Given the description of an element on the screen output the (x, y) to click on. 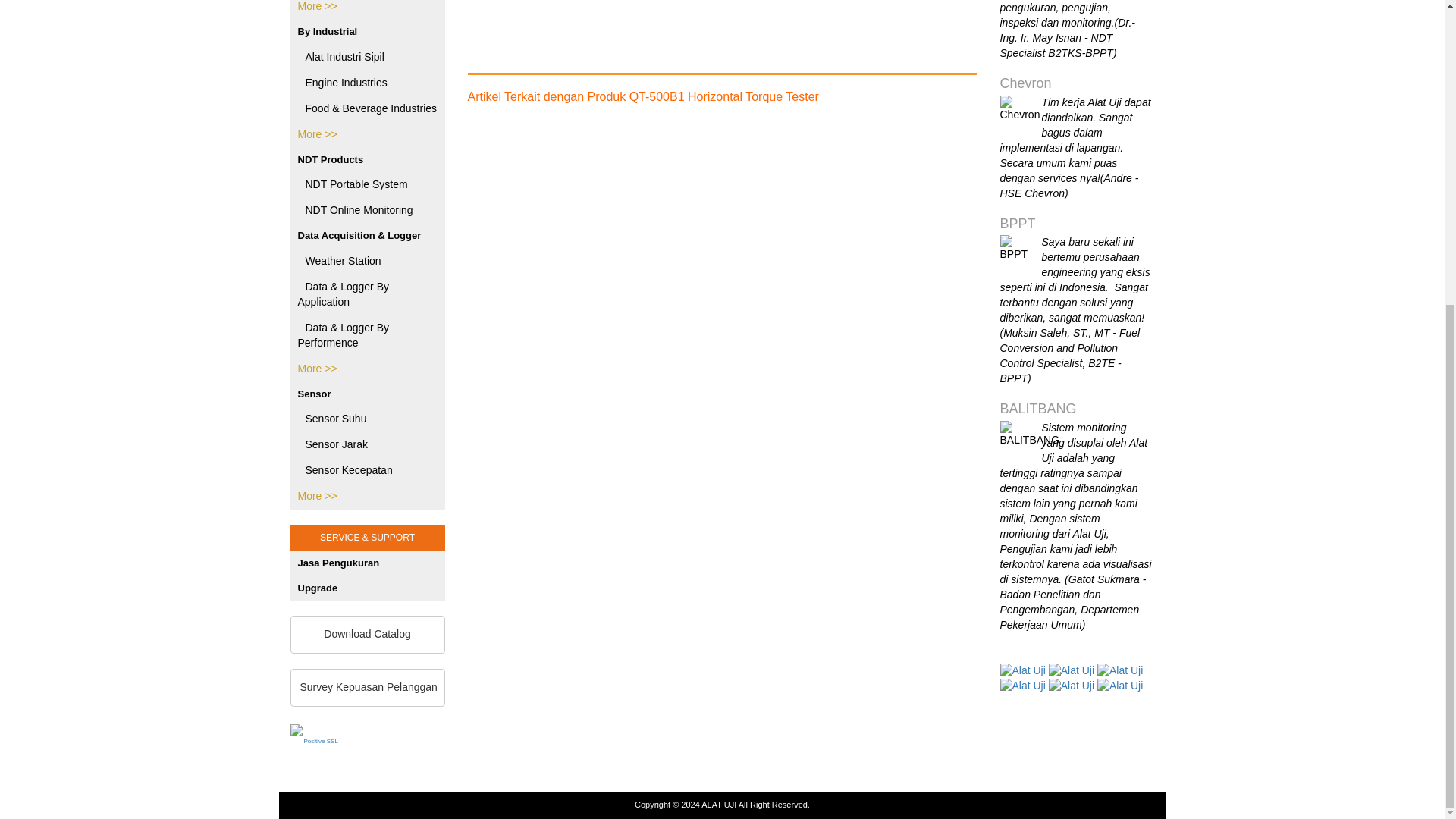
Engine Industries (366, 83)
By Industrial (366, 32)
Alat Industri Sipil (366, 57)
